Given the description of an element on the screen output the (x, y) to click on. 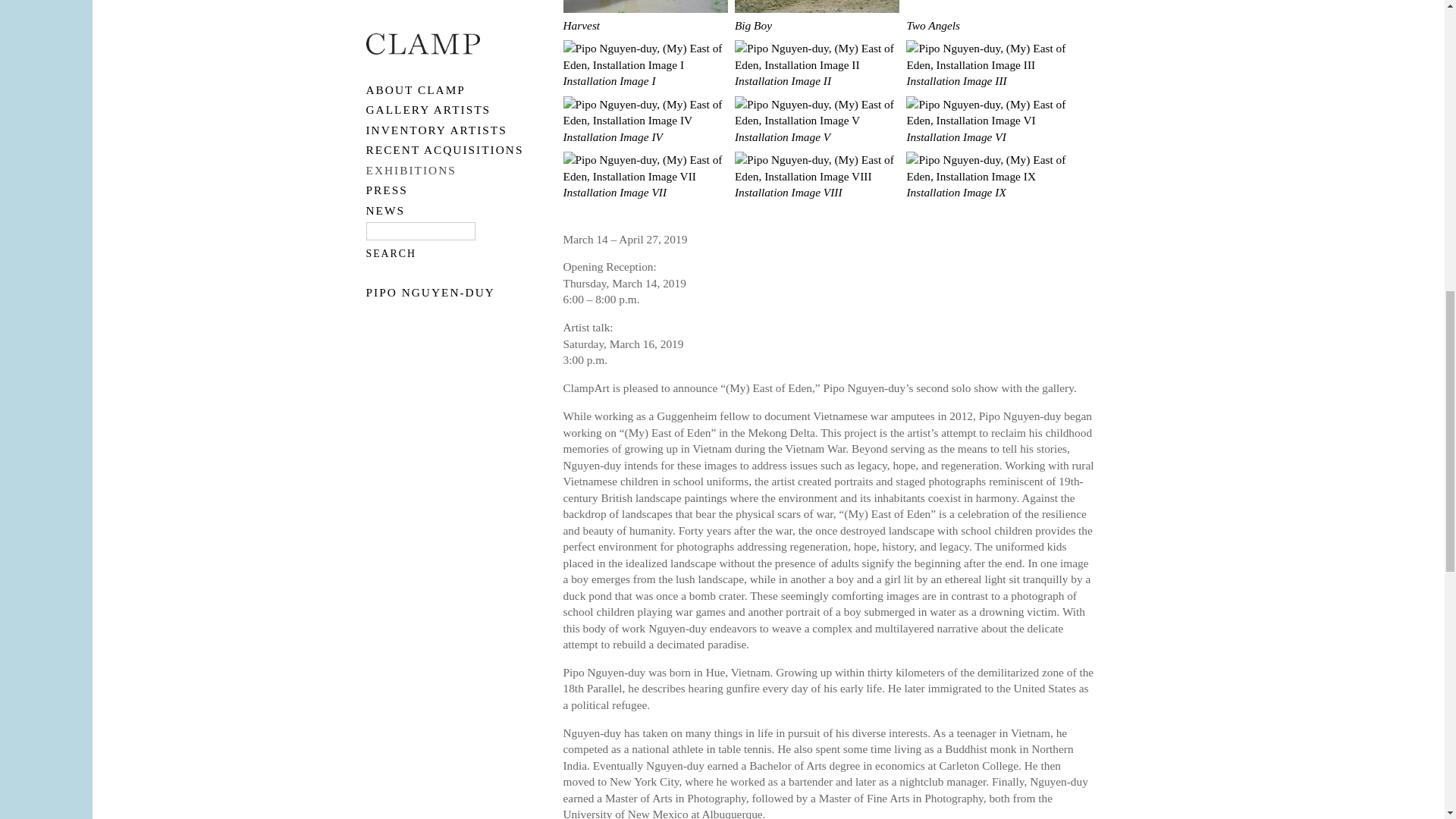
Installation Image VIII (817, 184)
Installation Image IV (644, 128)
Two Angels (987, 17)
Installation Image IX (987, 184)
Installation Image I (644, 73)
Installation Image II (817, 73)
Installation Image VI (987, 128)
Harvest (644, 17)
Installation Image VII (644, 184)
Installation Image III (987, 73)
Big Boy (817, 17)
Installation Image V (817, 128)
